Given the description of an element on the screen output the (x, y) to click on. 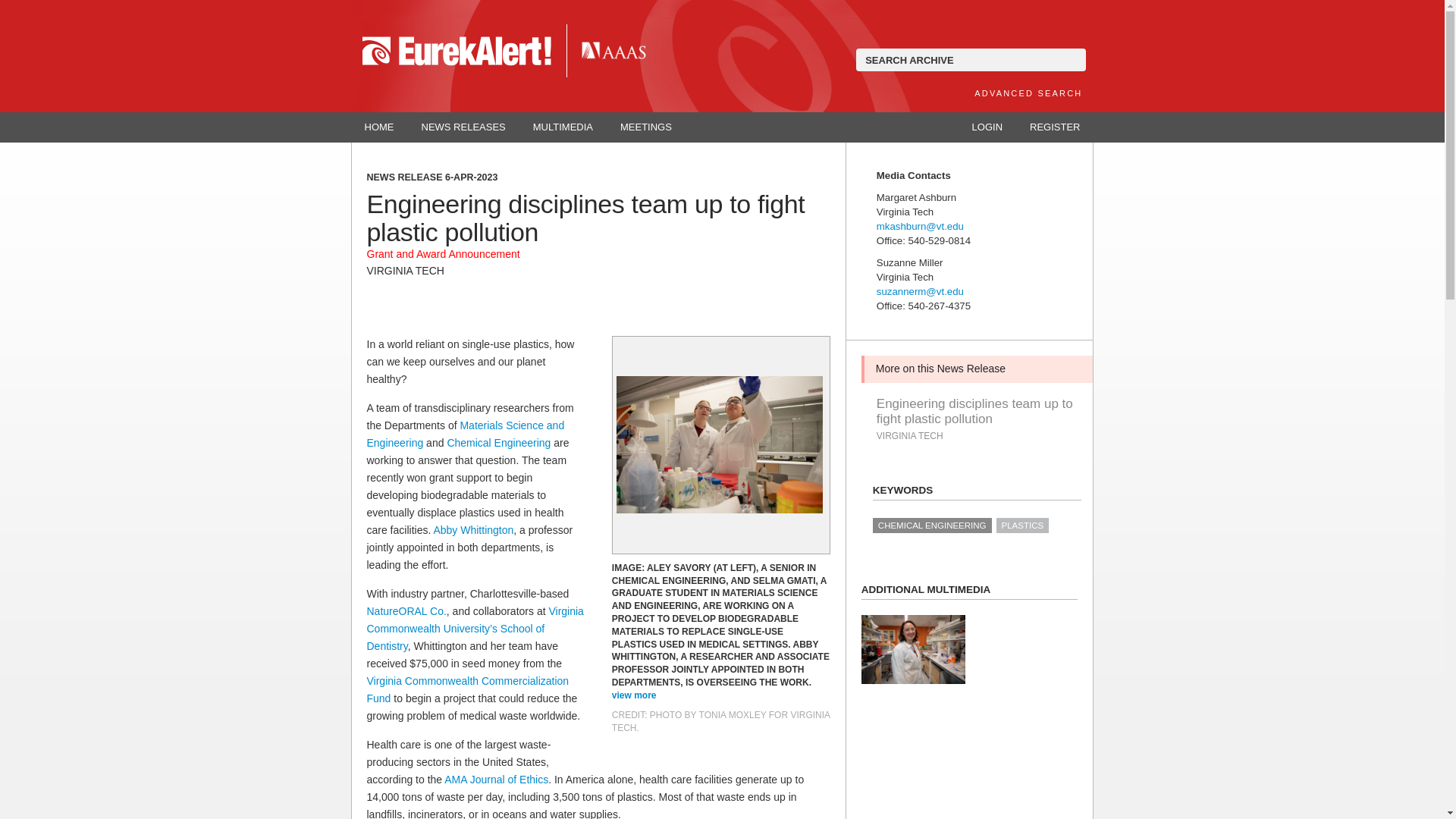
Grant and Award Announcement (442, 254)
Virginia Commonwealth Commercialization Fund (467, 689)
AMA Journal of Ethics (496, 779)
MULTIMEDIA (563, 127)
NatureORAL Co. (406, 611)
REGISTER (1054, 127)
CHEMICAL ENGINEERING (931, 525)
ADVANCED SEARCH (1027, 92)
Chemical Engineering (498, 442)
HOME (378, 127)
Engineering disciplines team up to fight plastic pollution (977, 411)
LOGIN (987, 127)
Materials Science and Engineering (465, 433)
MEETINGS (646, 127)
PLASTICS (1022, 525)
